Given the description of an element on the screen output the (x, y) to click on. 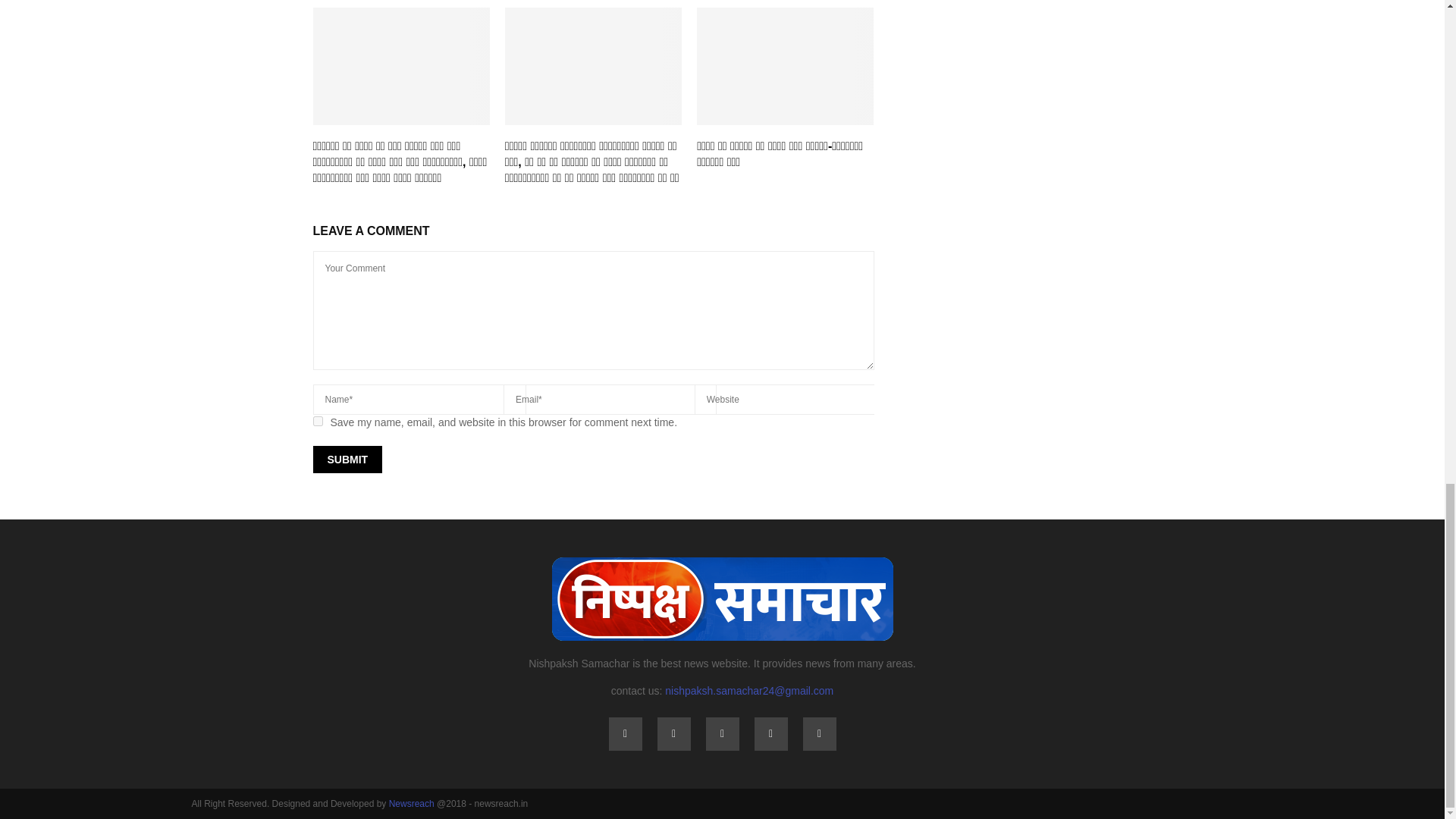
Submit (347, 459)
yes (317, 420)
